Given the description of an element on the screen output the (x, y) to click on. 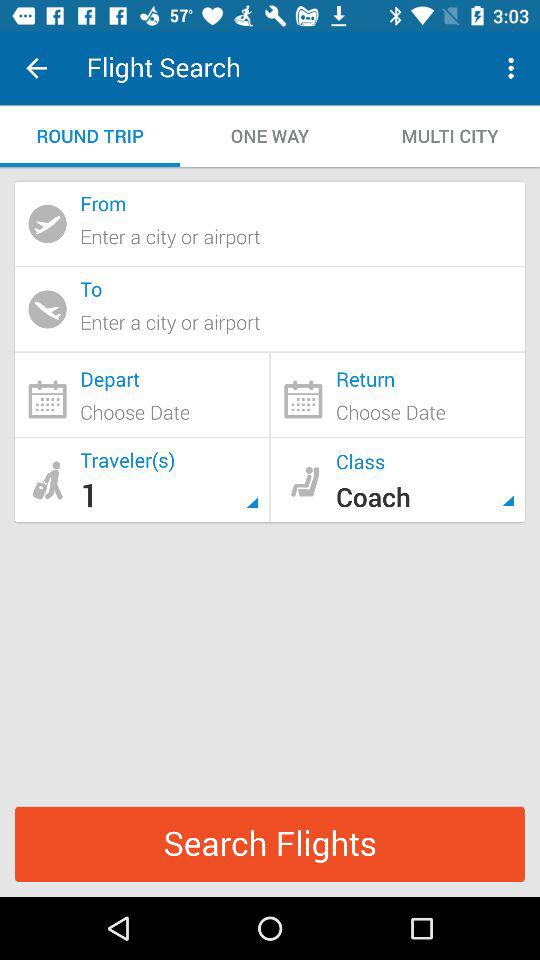
launch the item next to multi city item (270, 136)
